Given the description of an element on the screen output the (x, y) to click on. 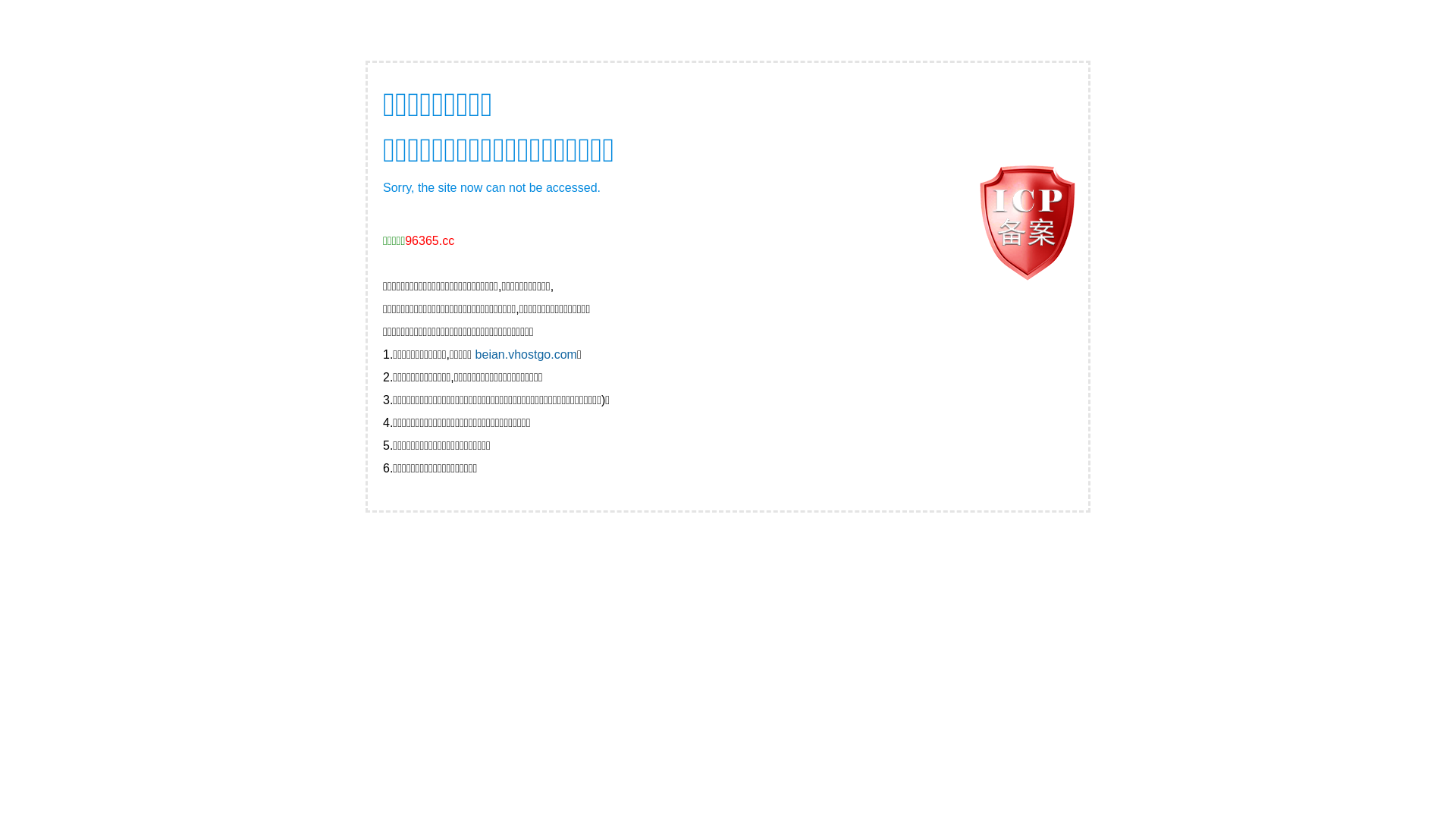
beian.vhostgo.com Element type: text (526, 354)
